Given the description of an element on the screen output the (x, y) to click on. 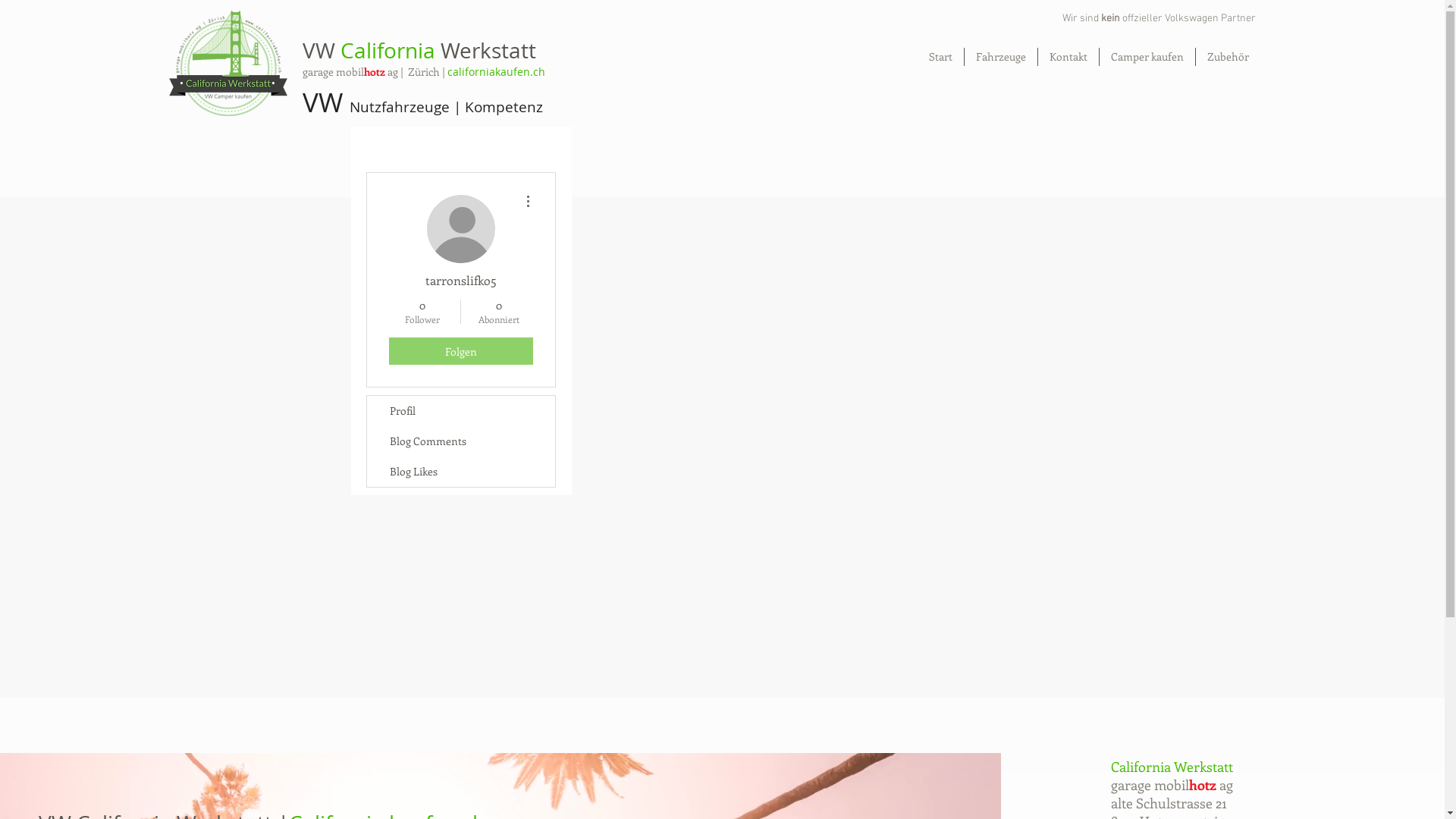
Fahrzeuge Element type: text (1000, 56)
Folgen Element type: text (460, 350)
0
Abonniert Element type: text (499, 311)
Start Element type: text (940, 56)
Camper kaufen Element type: text (1147, 56)
 Wir sind kein offzieller Volkswagen Partner Element type: text (1157, 18)
Blog Likes Element type: text (461, 471)
VW Nutzfahrzeuge | Kompetenz Element type: text (422, 104)
VW California Werkstatt Element type: text (419, 50)
0
Follower Element type: text (421, 311)
Blog Comments Element type: text (461, 441)
Kontakt Element type: text (1068, 56)
Profil Element type: text (461, 410)
